Given the description of an element on the screen output the (x, y) to click on. 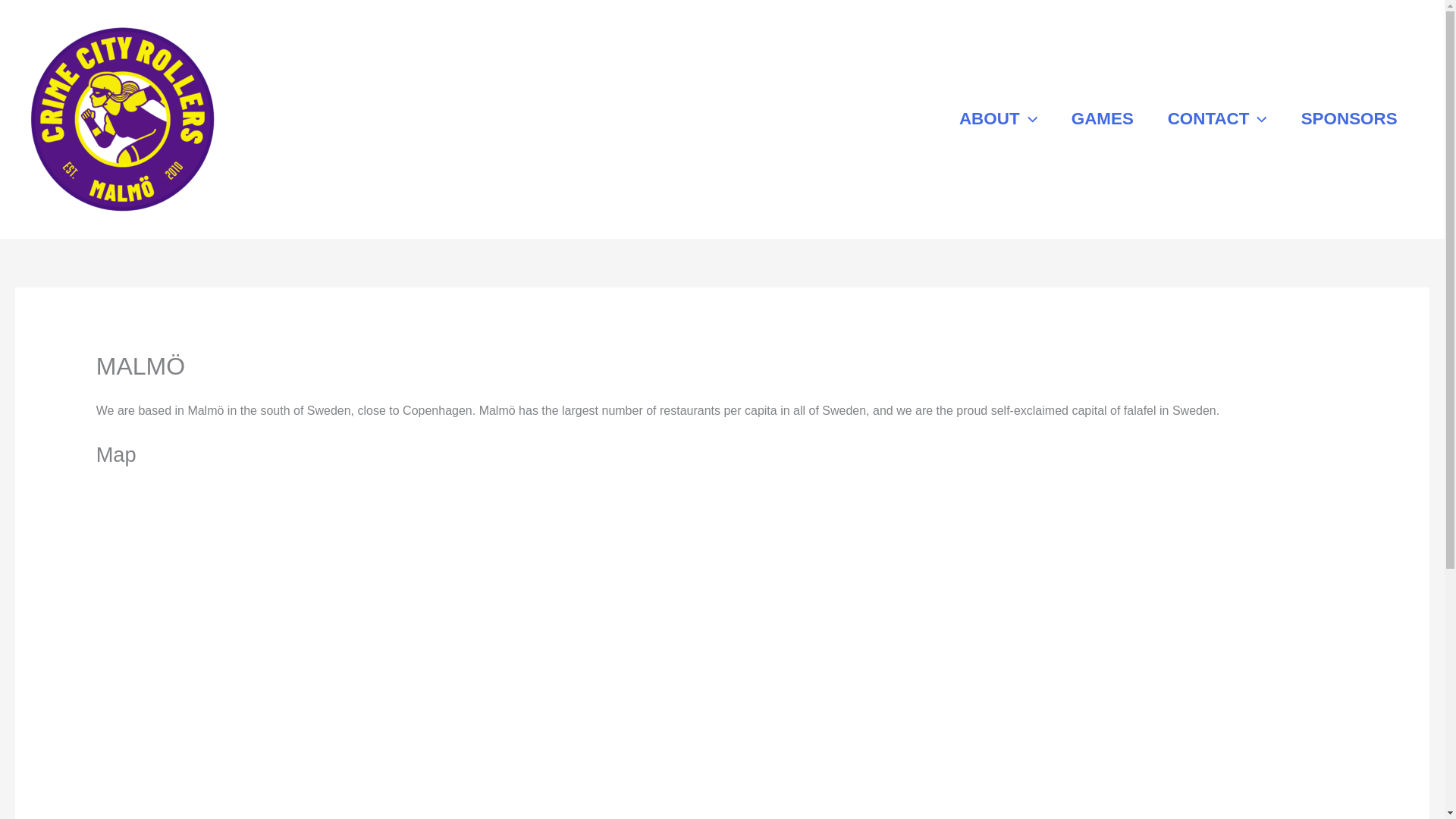
SPONSORS (1348, 119)
GAMES (1102, 119)
ABOUT (998, 119)
CONTACT (1217, 119)
